Given the description of an element on the screen output the (x, y) to click on. 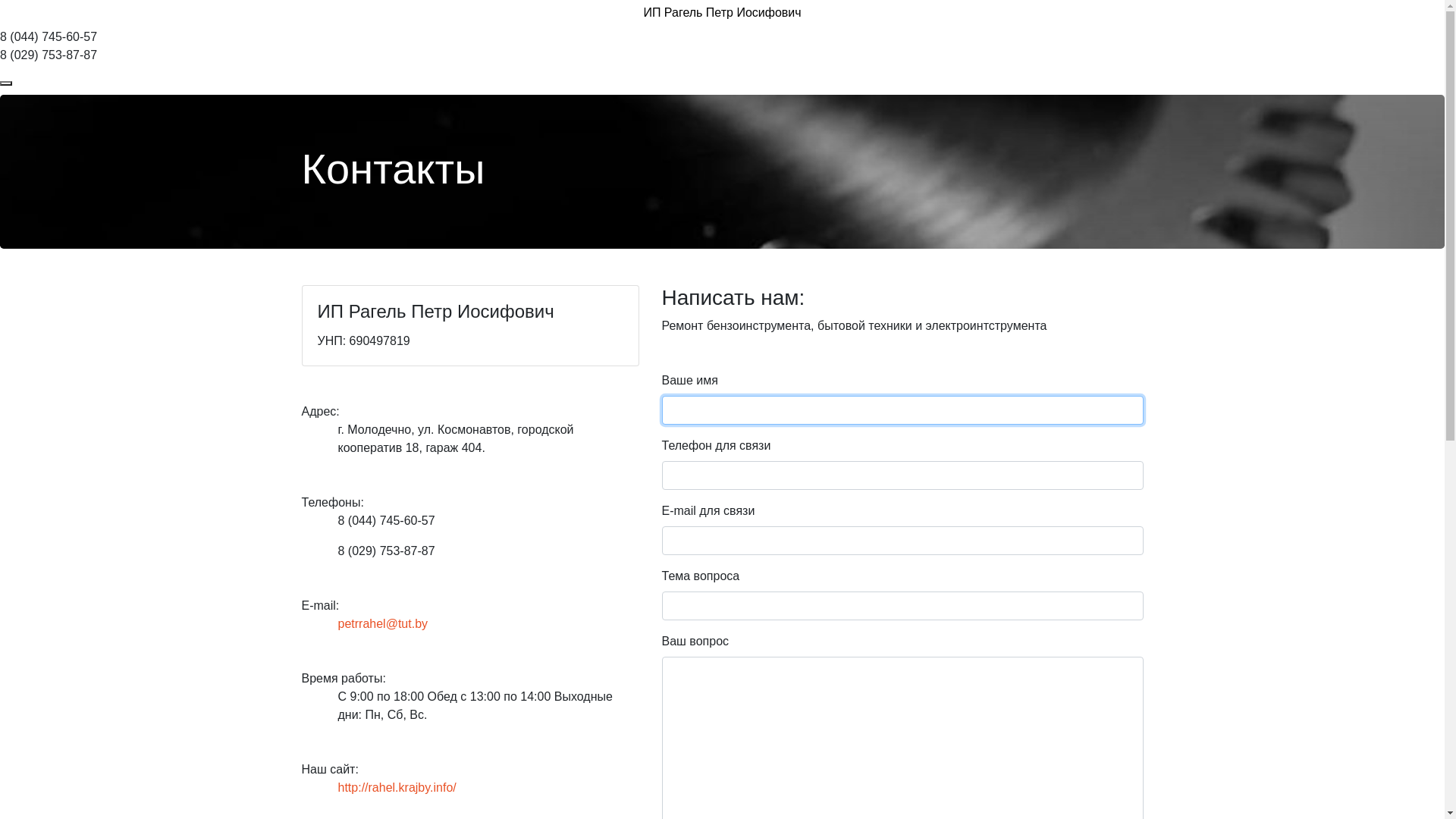
petrrahel@tut.by Element type: text (383, 623)
http://rahel.krajby.info/ Element type: text (397, 787)
